Given the description of an element on the screen output the (x, y) to click on. 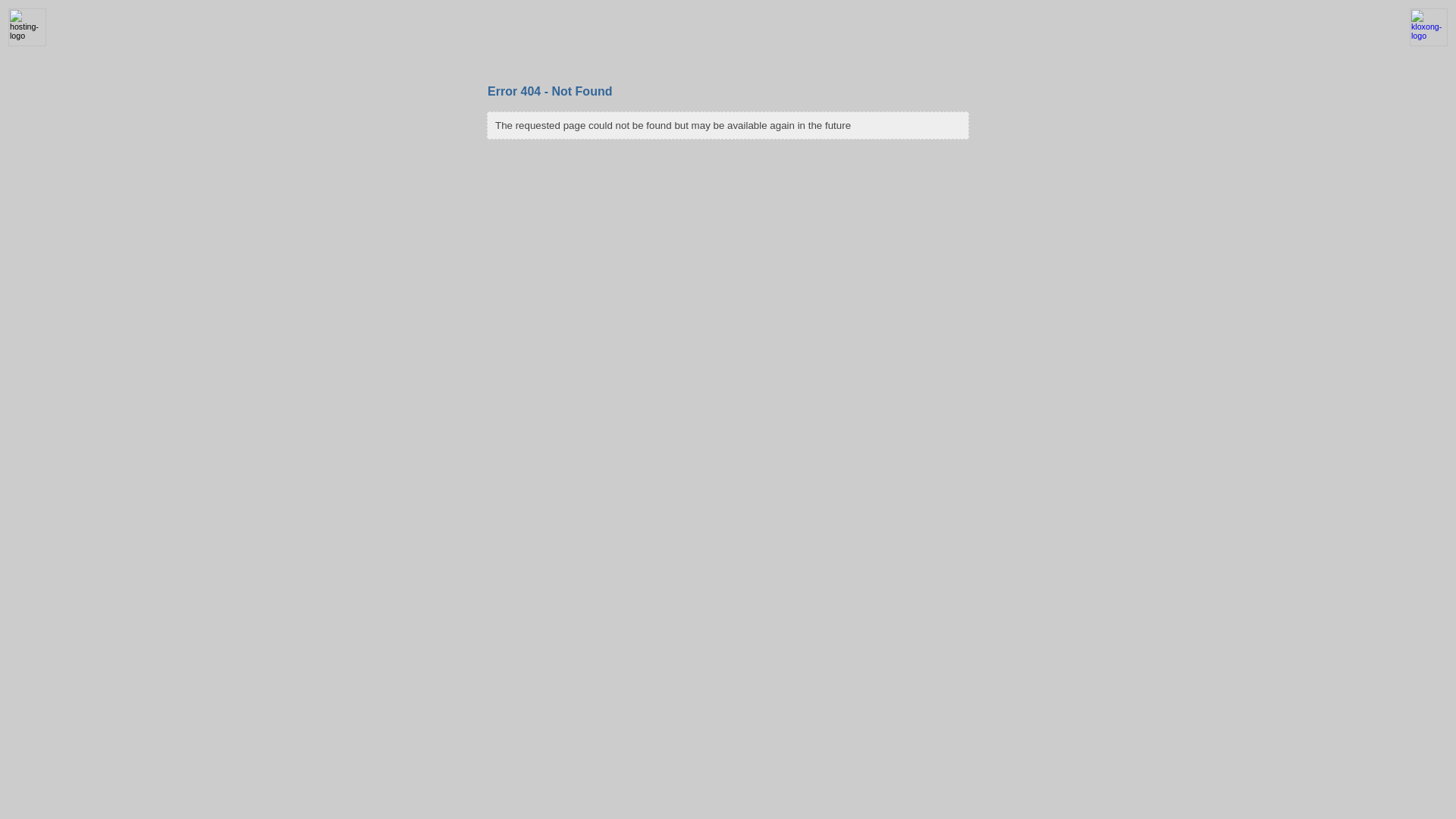
KloxoNG website Element type: hover (1428, 42)
